Given the description of an element on the screen output the (x, y) to click on. 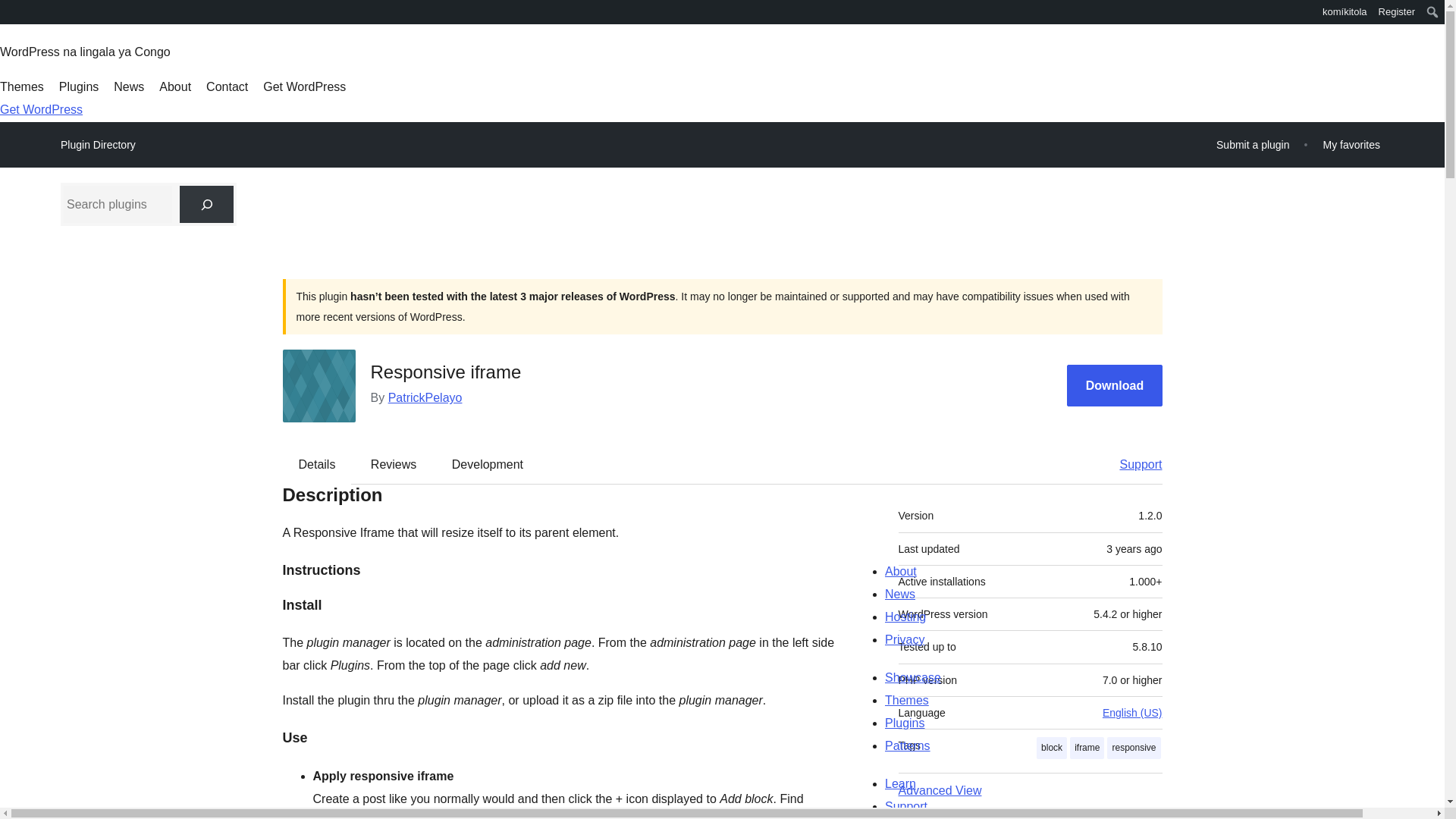
Details (316, 464)
WordPress.org (10, 16)
Plugin Directory (97, 144)
Development (487, 464)
Download (1114, 385)
My favorites (1351, 144)
WordPress.org (10, 10)
Reviews (392, 464)
Get WordPress (304, 87)
Contact (226, 87)
Get WordPress (41, 109)
Submit a plugin (1253, 144)
News (128, 87)
Register (1397, 12)
Themes (21, 87)
